Given the description of an element on the screen output the (x, y) to click on. 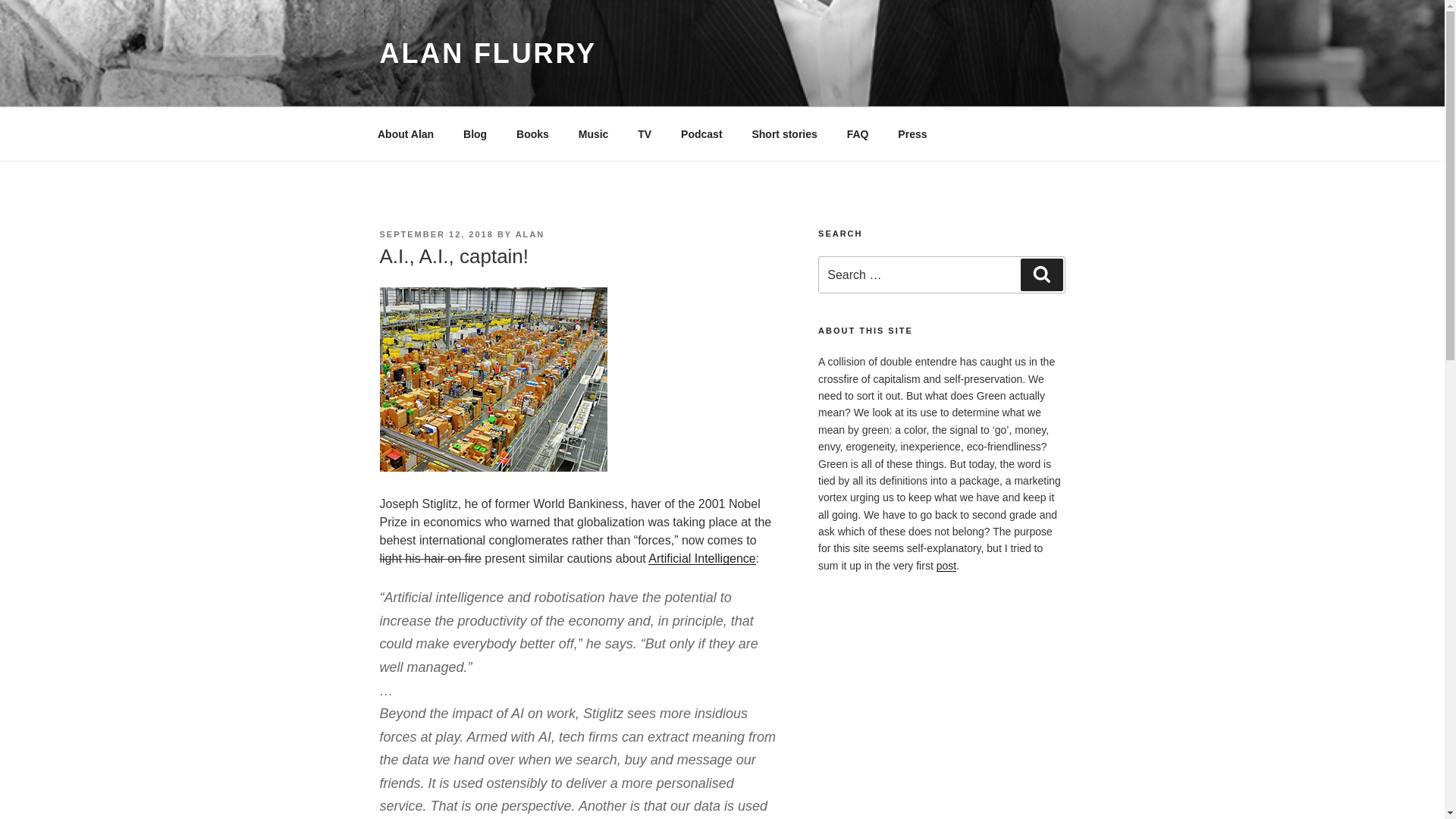
SEPTEMBER 12, 2018 (435, 234)
post (946, 565)
Short stories (783, 133)
Press (912, 133)
Blog (474, 133)
Podcast (701, 133)
Music (592, 133)
ALAN (529, 234)
Search (1041, 274)
About Alan (405, 133)
FAQ (857, 133)
ALAN FLURRY (486, 52)
Artificial Intelligence (701, 558)
Books (532, 133)
TV (644, 133)
